Given the description of an element on the screen output the (x, y) to click on. 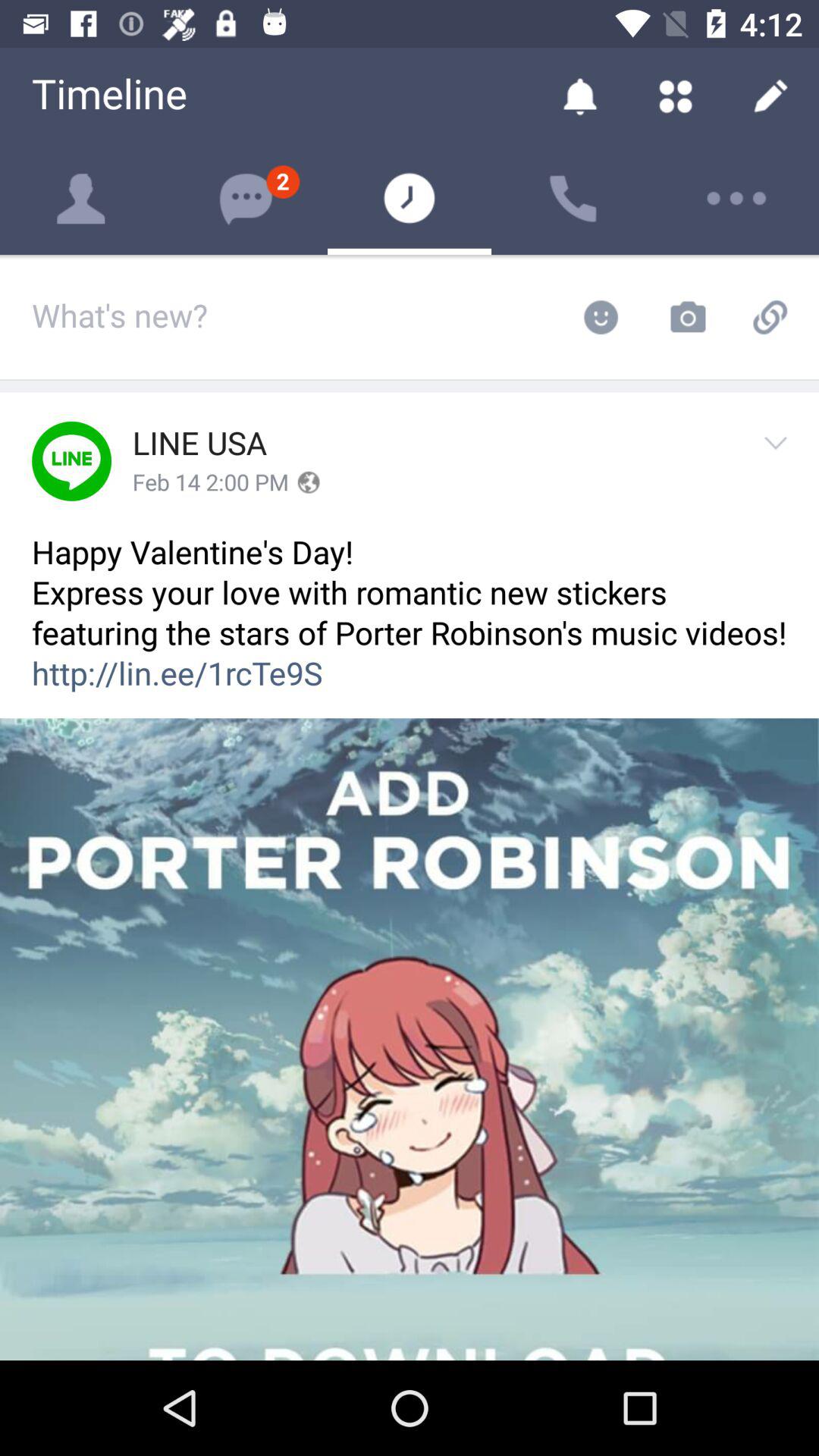
select the clock symbol in the middle at the top of the web page (409, 197)
click on the read more icon at the right side of the page (780, 461)
select three vertical dots on the top right of the web page (737, 198)
click on more options symbol which is at the right side of phone symbol (737, 197)
click on attach files icon next to camera icon on the top right corner of the page (775, 317)
click on icon left to edit icon (675, 95)
click the emoji button on the web page (599, 317)
click on icon left to line usa (71, 461)
click on line usa below whats new (199, 444)
click on the timer icon next to message icon (409, 197)
select the field which says whats new (293, 316)
click on the dailer icon at the top of the page (573, 198)
the call icon below bell icon at the top of the page (573, 198)
the edit icon shown at the top right corner of the page (771, 95)
